Given the description of an element on the screen output the (x, y) to click on. 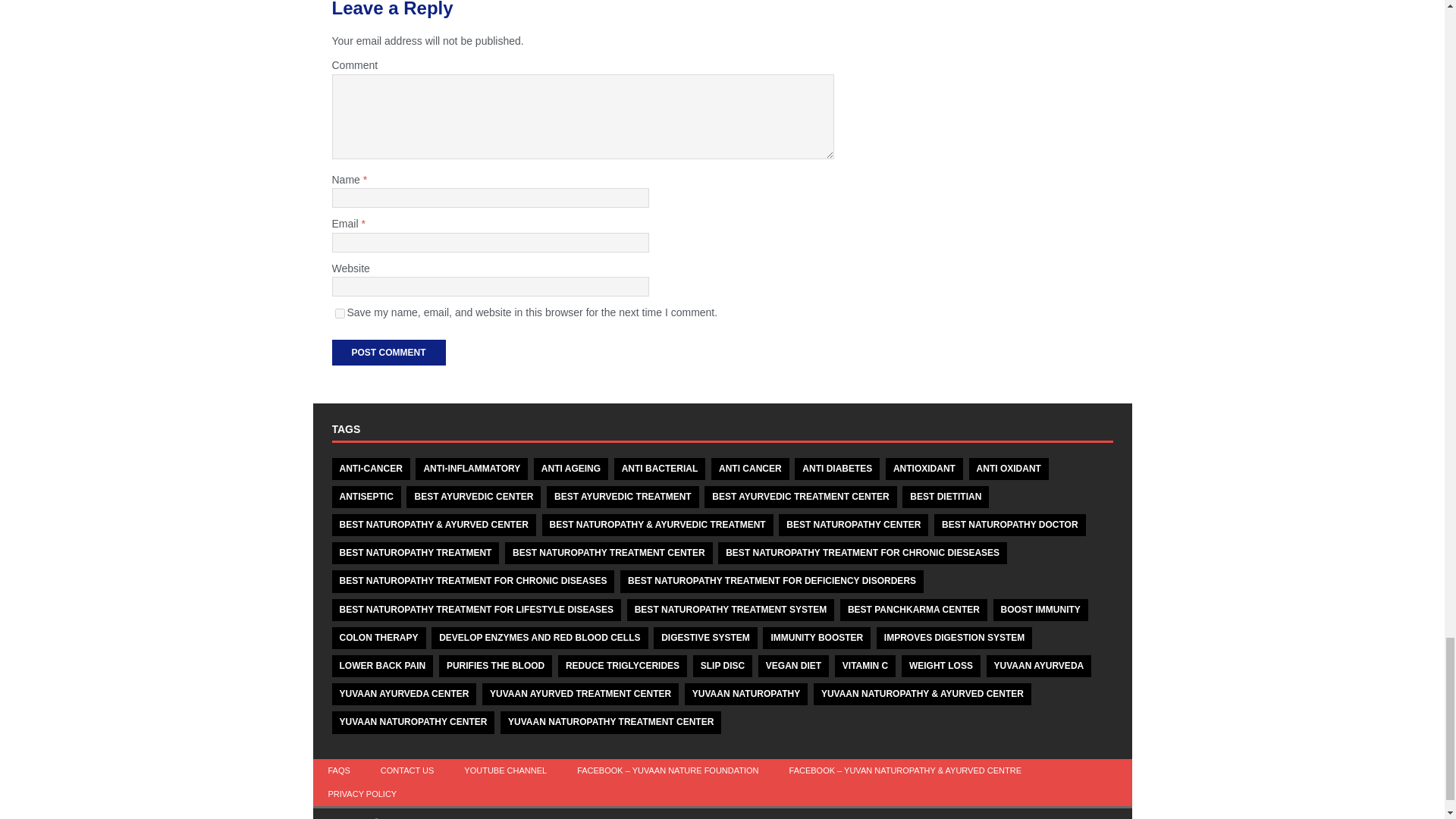
Post Comment (388, 352)
yes (339, 313)
